Given the description of an element on the screen output the (x, y) to click on. 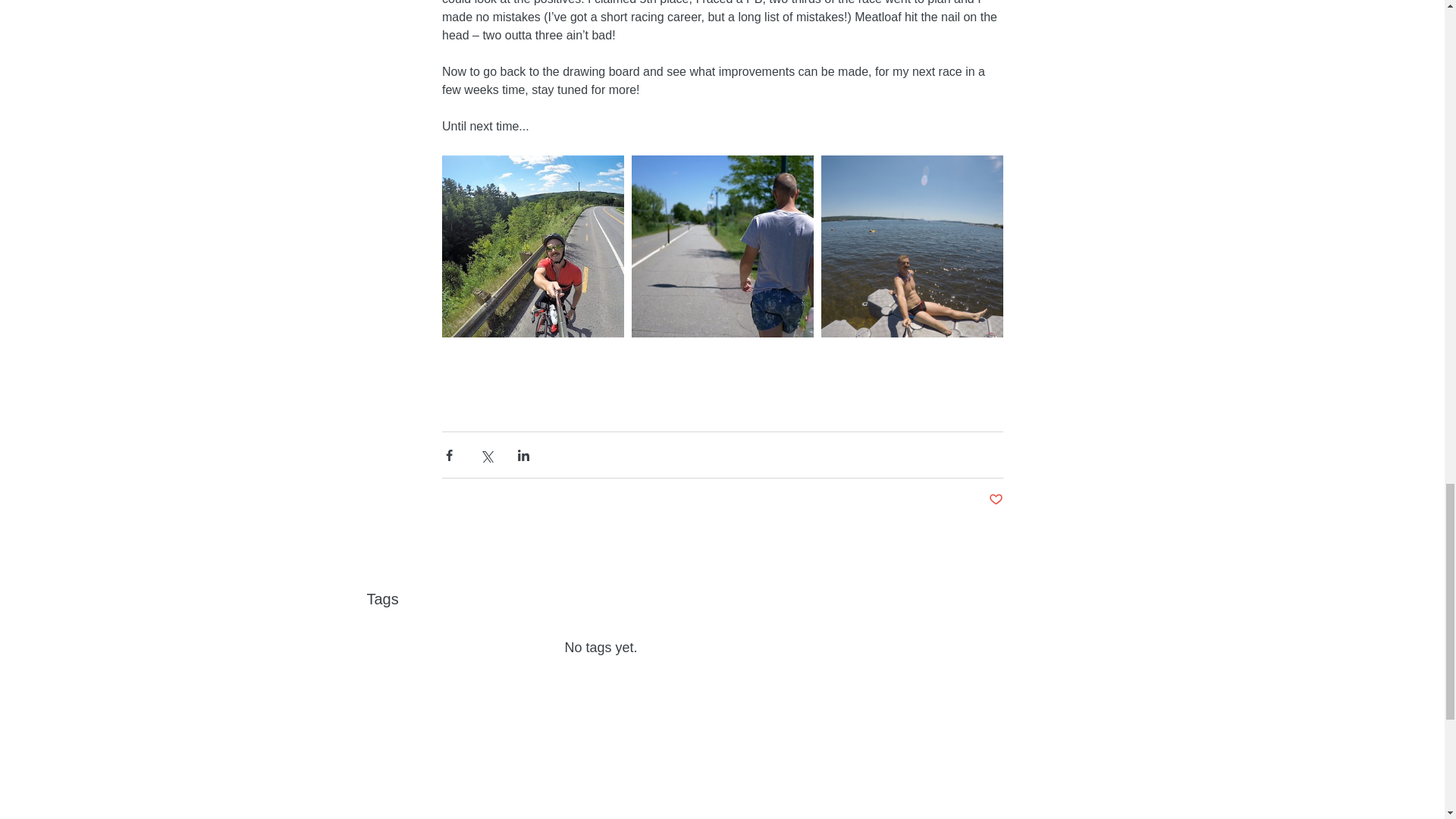
Post not marked as liked (995, 499)
Normality (721, 395)
Mental Fitness Challenge (964, 471)
